Given the description of an element on the screen output the (x, y) to click on. 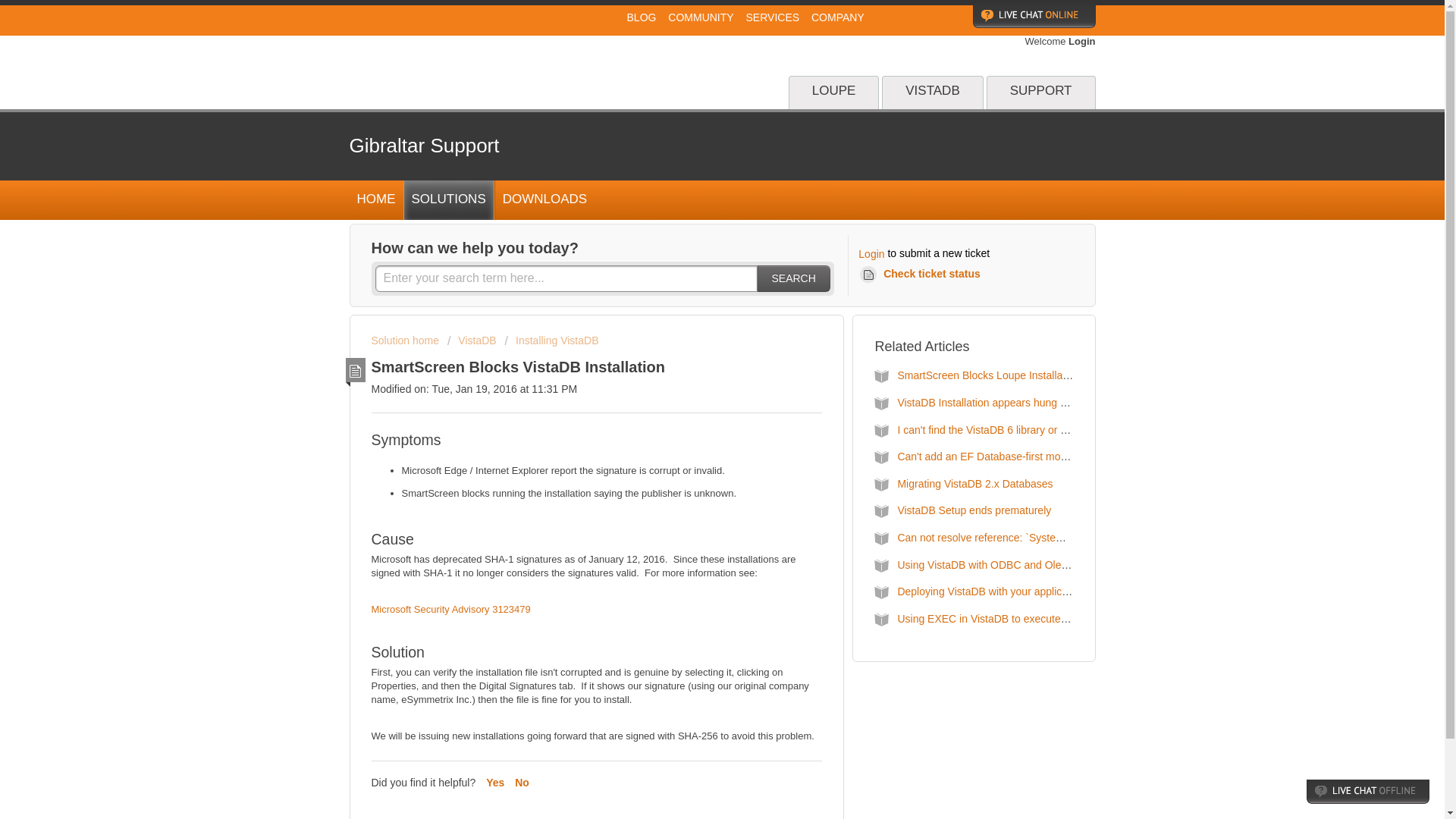
SERVICES (773, 17)
SEARCH (793, 278)
VistaDB (471, 340)
Client Logon (920, 16)
Migrating VistaDB 2.x Databases (974, 483)
SUPPORT (1041, 92)
VISTADB (932, 92)
SOLUTIONS (448, 200)
DOWNLOADS (544, 200)
